Given the description of an element on the screen output the (x, y) to click on. 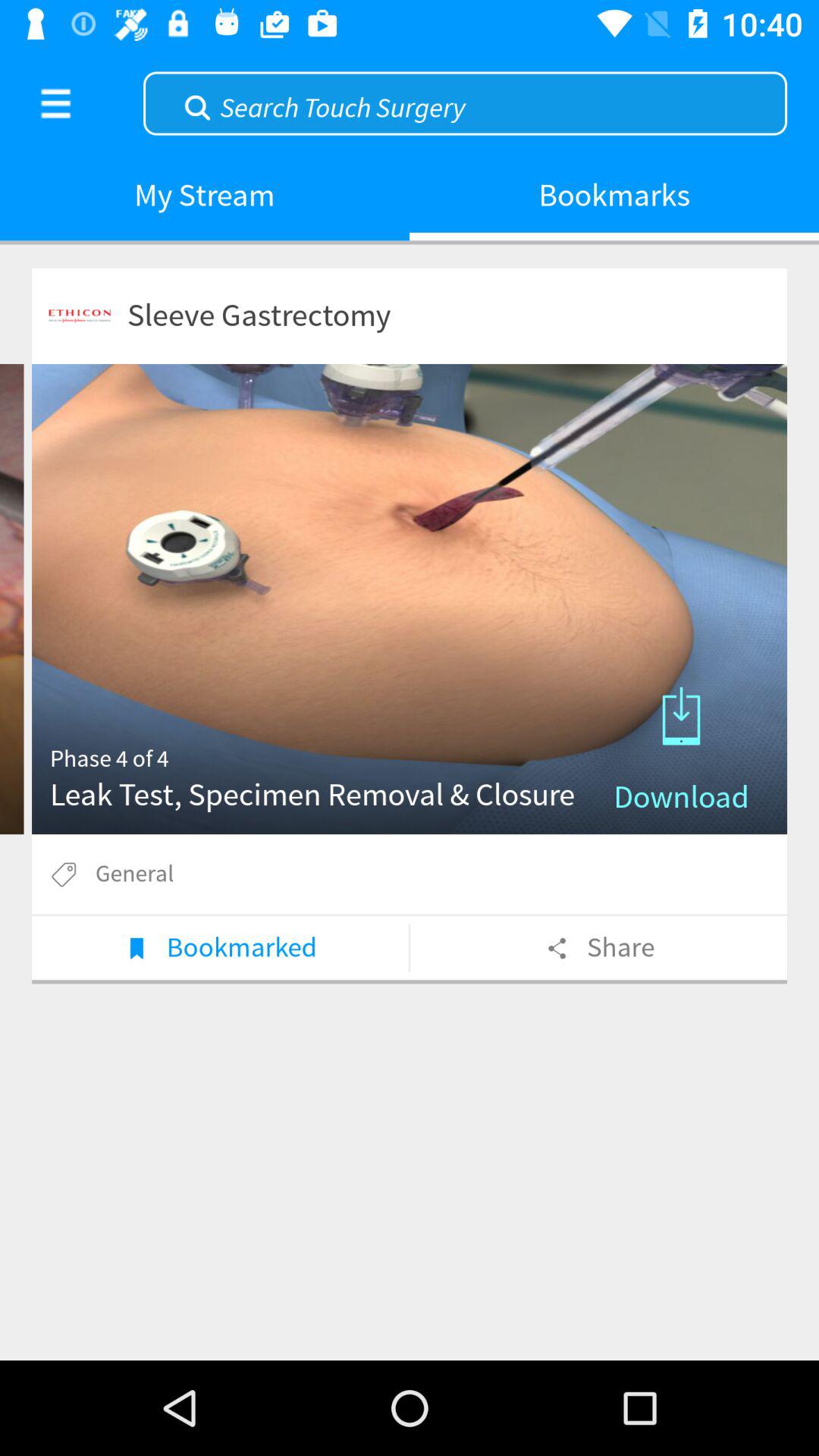
open the the displayed image (409, 599)
